Given the description of an element on the screen output the (x, y) to click on. 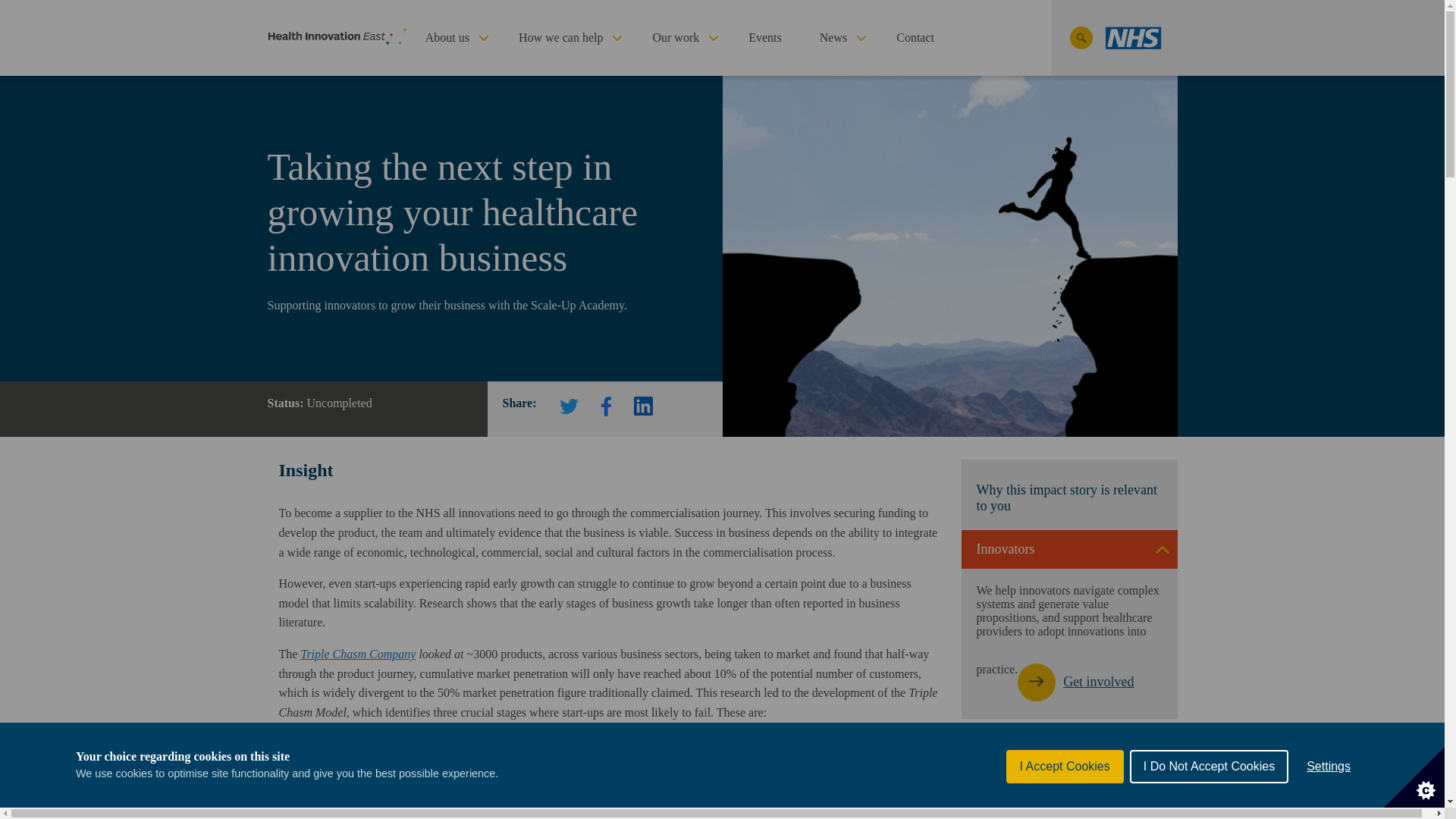
Settings (1328, 767)
I Do Not Accept Cookies (1208, 769)
I Accept Cookies (1065, 772)
